Given the description of an element on the screen output the (x, y) to click on. 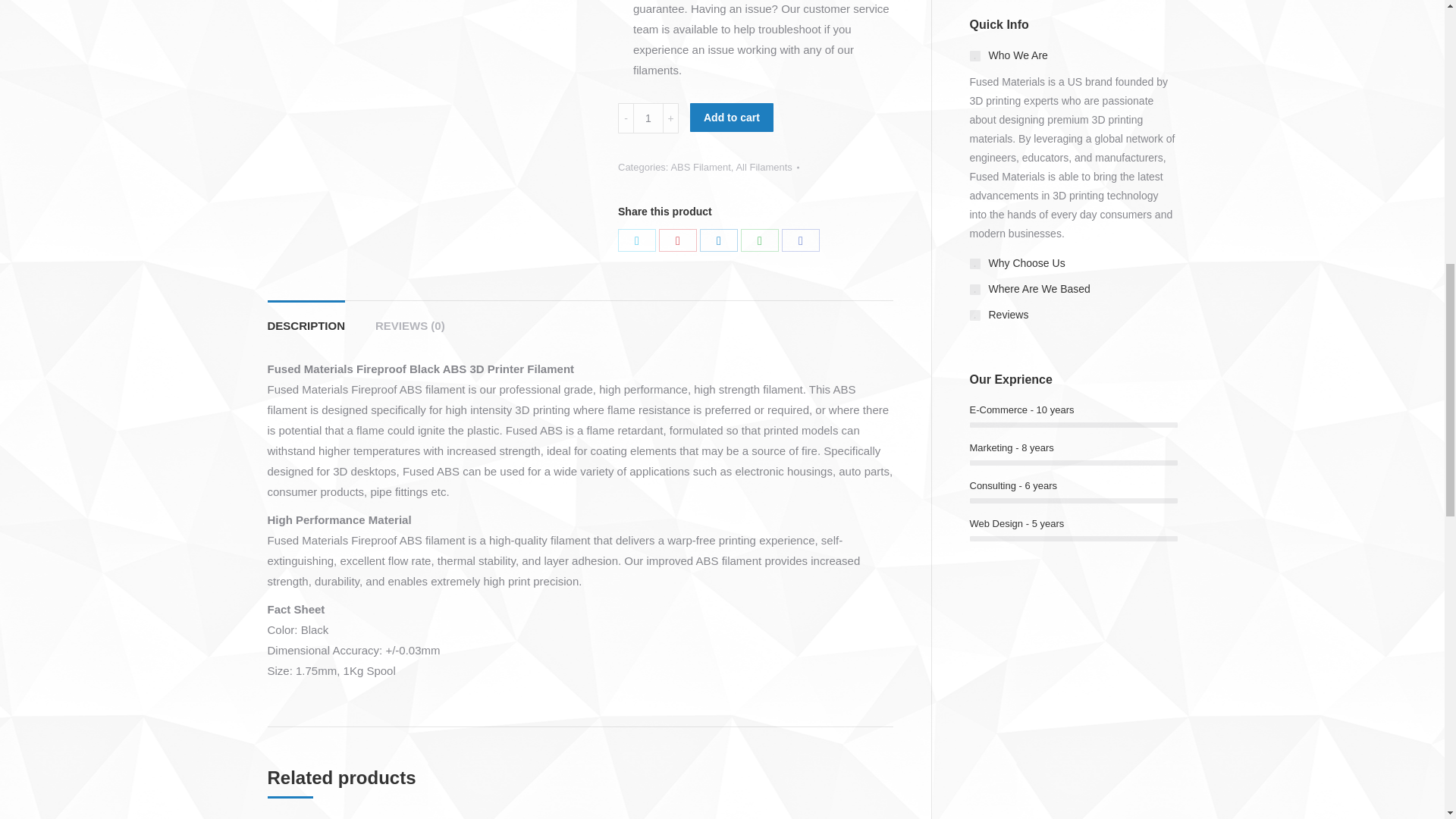
Facebook (800, 240)
Twitter (636, 240)
Pinterest (678, 240)
WhatsApp (759, 240)
1 (648, 118)
Qty (648, 118)
LinkedIn (719, 240)
